Given the description of an element on the screen output the (x, y) to click on. 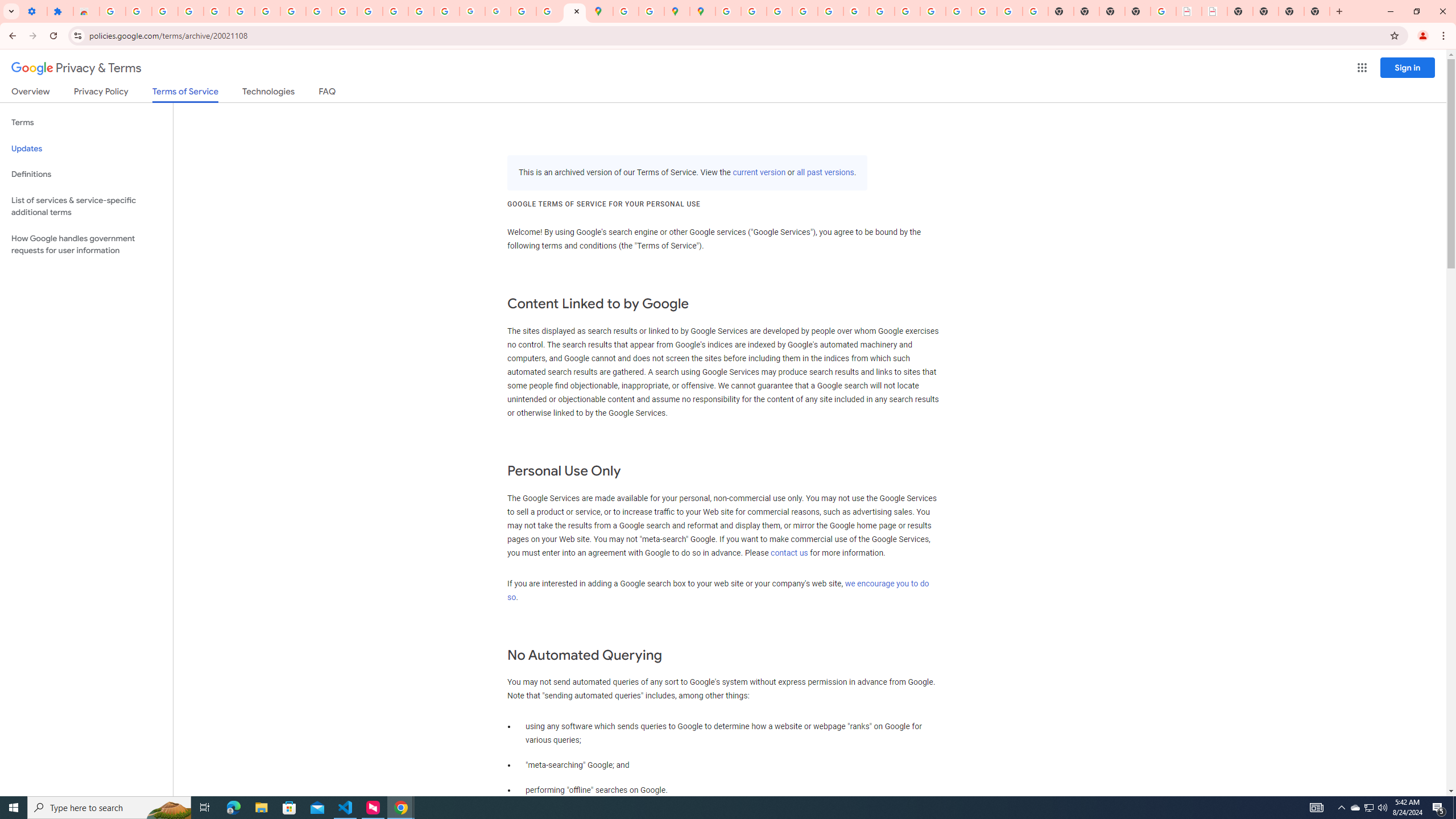
Sign in - Google Accounts (727, 11)
Definitions (86, 174)
https://scholar.google.com/ (369, 11)
Reviews: Helix Fruit Jump Arcade Game (86, 11)
Google Account (293, 11)
List of services & service-specific additional terms (86, 206)
Overview (30, 93)
